Given the description of an element on the screen output the (x, y) to click on. 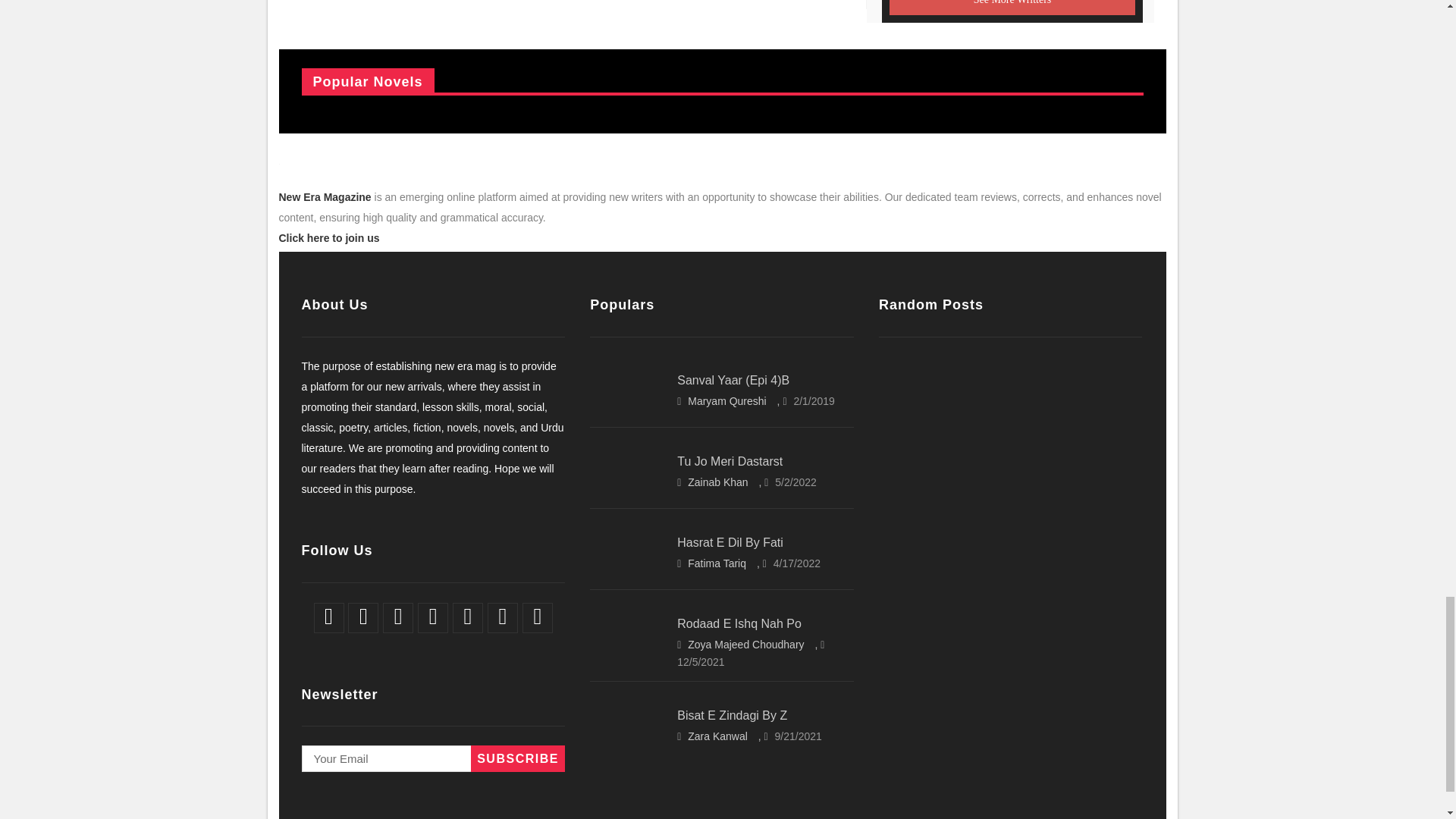
Subscribe (517, 758)
Your Email (432, 758)
